Given the description of an element on the screen output the (x, y) to click on. 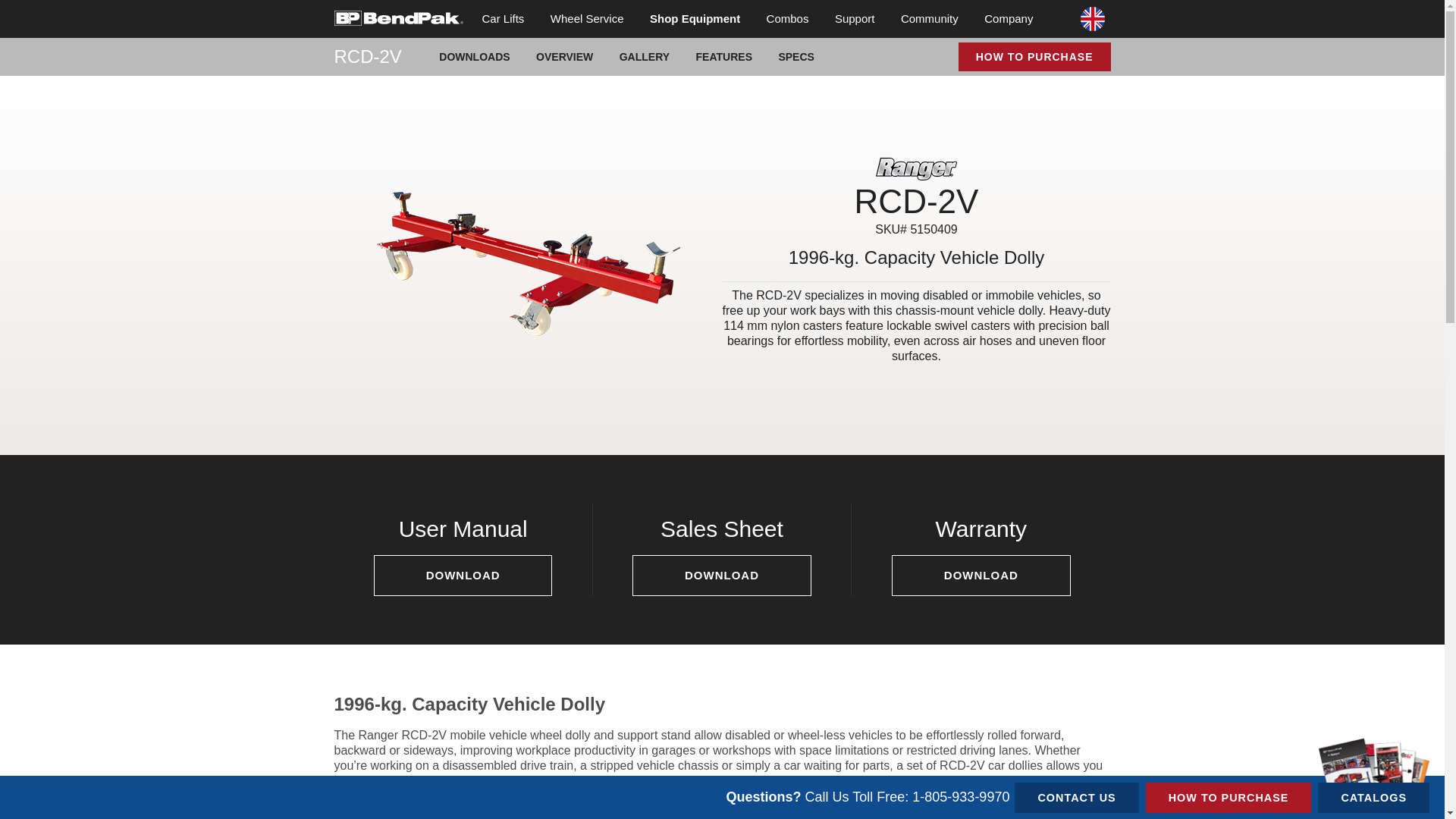
Shop Equipment (695, 18)
BendPak (398, 17)
Wheel Service (586, 18)
Car Lifts (502, 18)
on (338, 4)
